Given the description of an element on the screen output the (x, y) to click on. 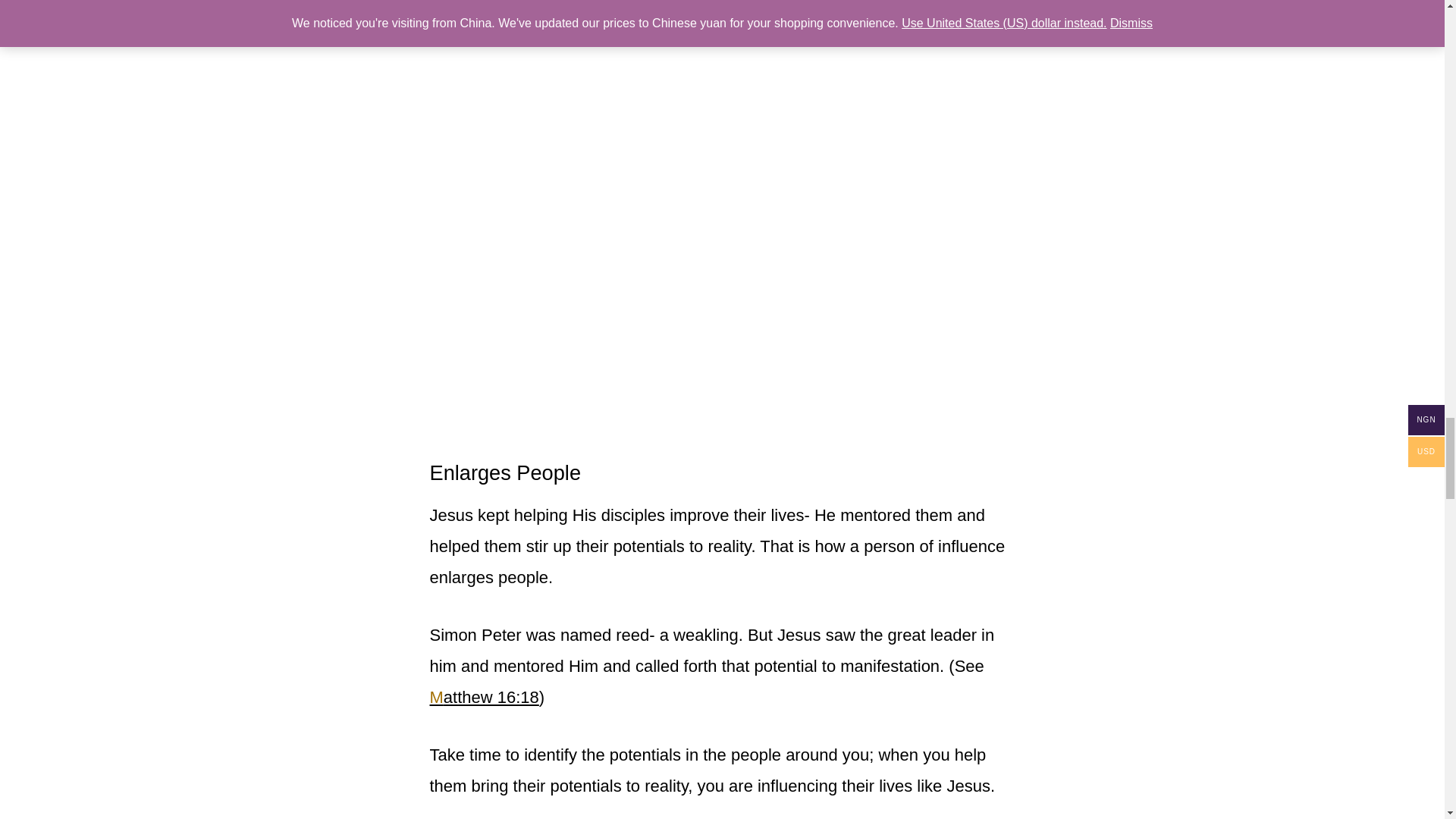
Matthew 16:18 (483, 696)
